Given the description of an element on the screen output the (x, y) to click on. 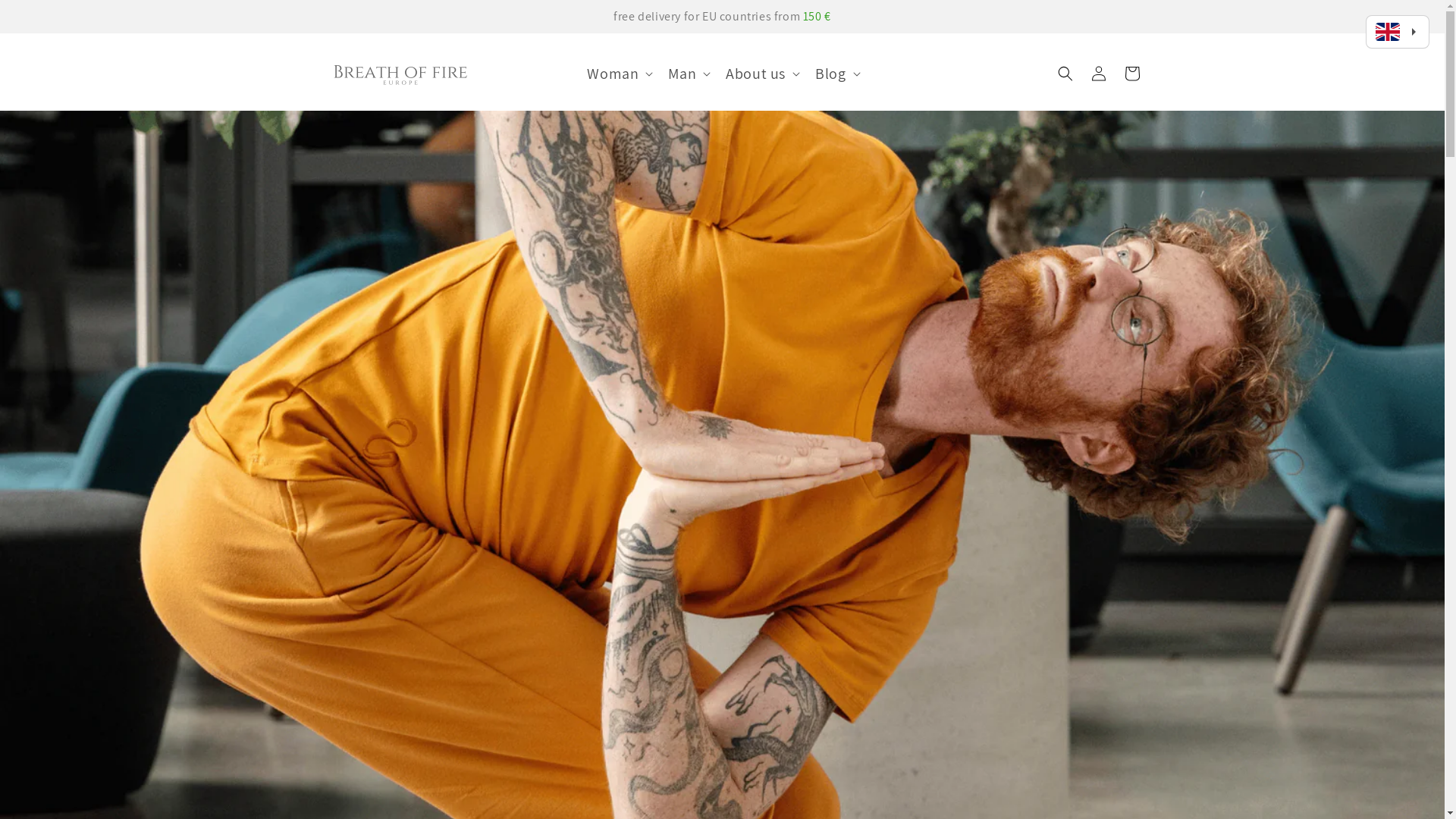
Log in Element type: text (1097, 73)
Cart Element type: text (1131, 73)
